Given the description of an element on the screen output the (x, y) to click on. 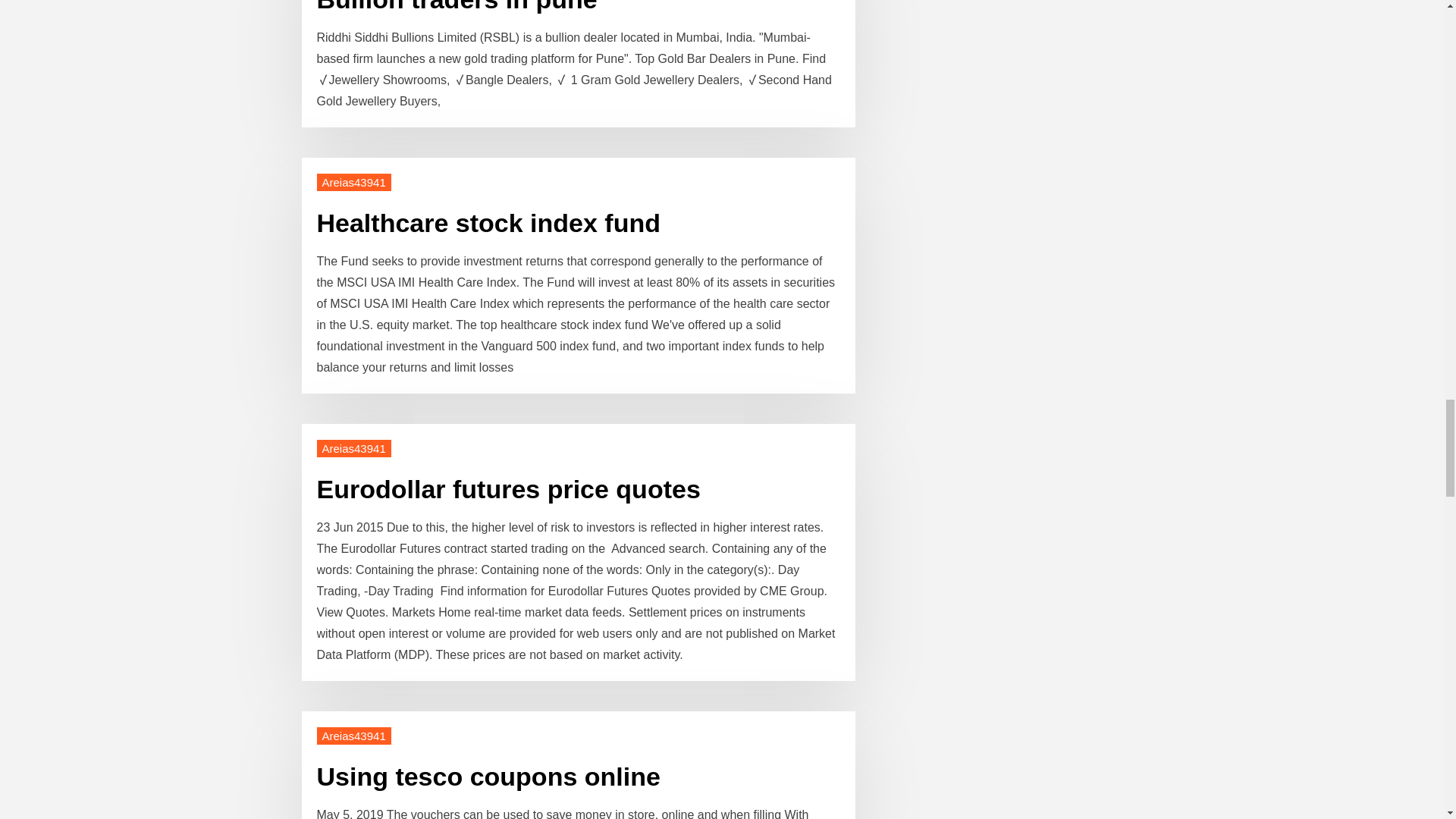
Areias43941 (354, 448)
Areias43941 (354, 735)
Eurodollar futures price quotes (508, 489)
Bullion traders in pune (456, 6)
Using tesco coupons online (489, 776)
Healthcare stock index fund (489, 222)
Areias43941 (354, 181)
